Given the description of an element on the screen output the (x, y) to click on. 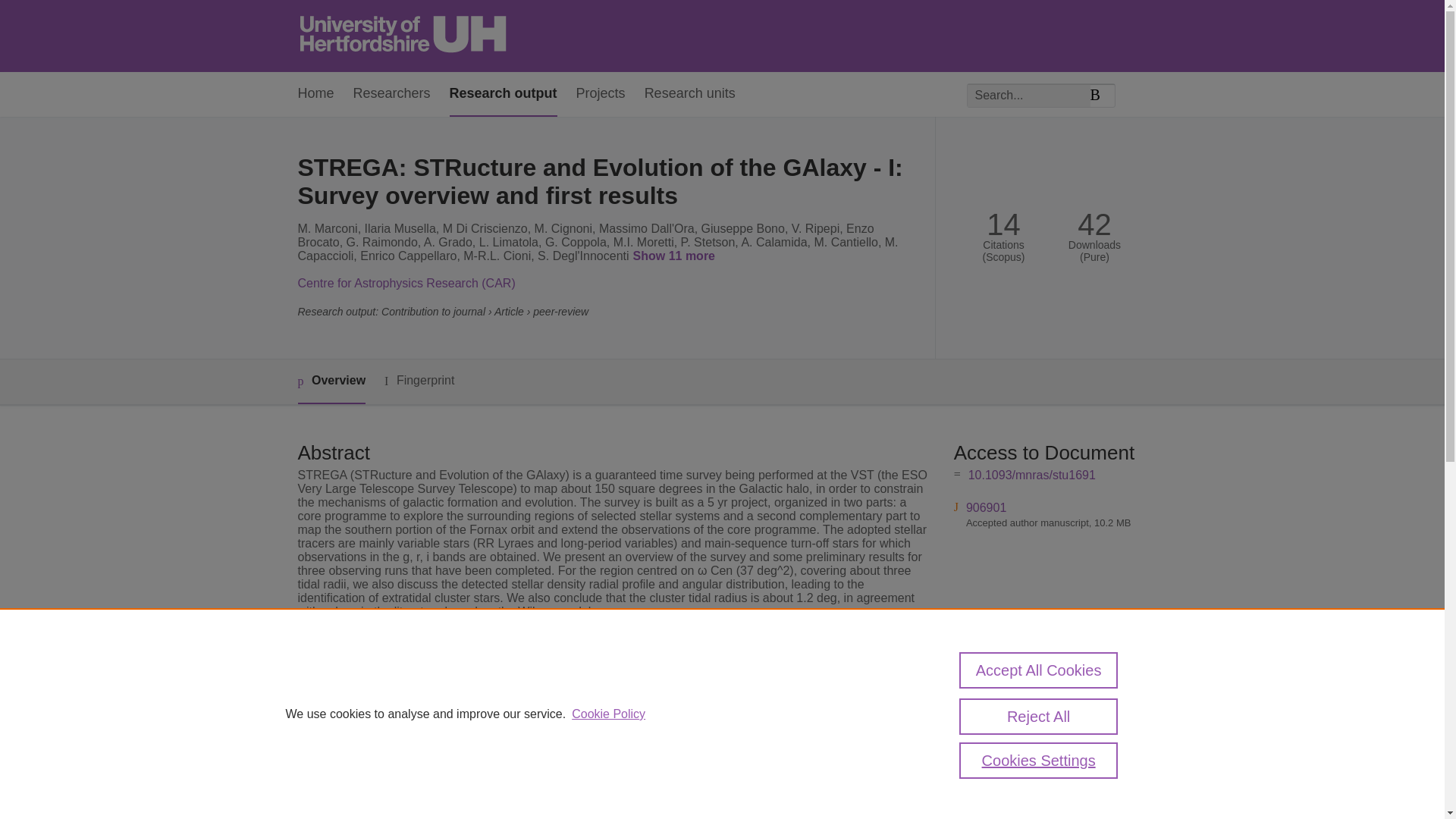
Research output (503, 94)
Cookies Settings (1038, 760)
Cookie Policy (608, 713)
906901 (986, 507)
Fingerprint (419, 380)
Overview (331, 381)
Projects (601, 94)
Monthly Notices of the Royal Astronomical Society (640, 684)
Research units (690, 94)
Show 11 more (675, 256)
Researchers (391, 94)
